Given the description of an element on the screen output the (x, y) to click on. 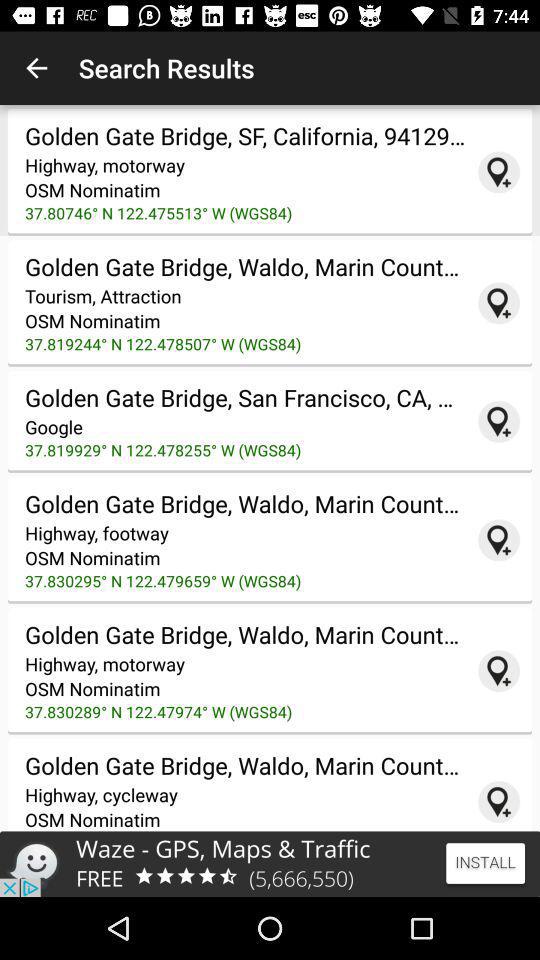
add location (499, 671)
